Given the description of an element on the screen output the (x, y) to click on. 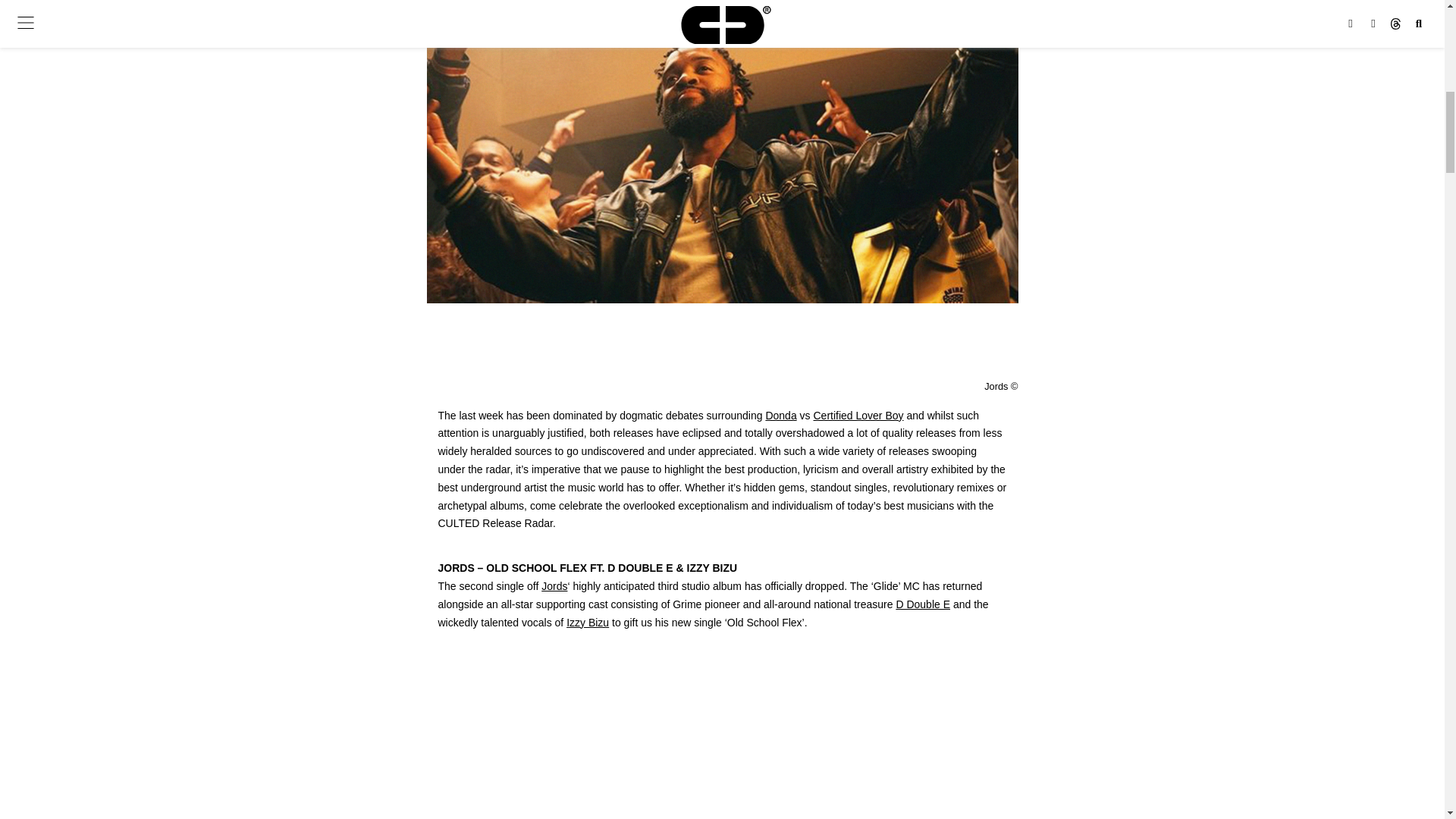
Certified Lover Boy (857, 415)
Donda (780, 415)
D Double E (922, 604)
Izzy Bizu (587, 622)
Old School Flex (721, 738)
Jords (554, 585)
